Given the description of an element on the screen output the (x, y) to click on. 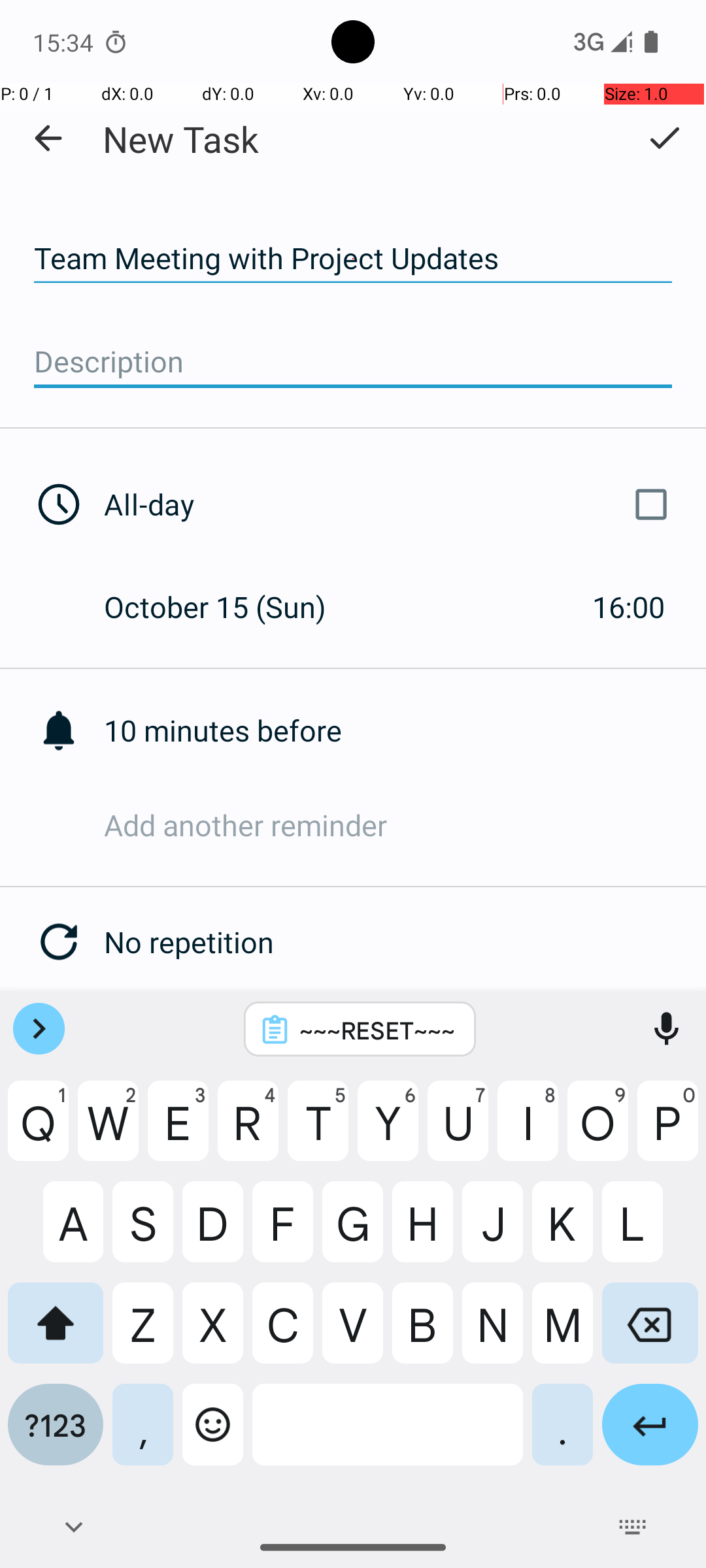
New Task Element type: android.widget.TextView (180, 138)
Team Meeting with Project Updates Element type: android.widget.EditText (352, 258)
